Given the description of an element on the screen output the (x, y) to click on. 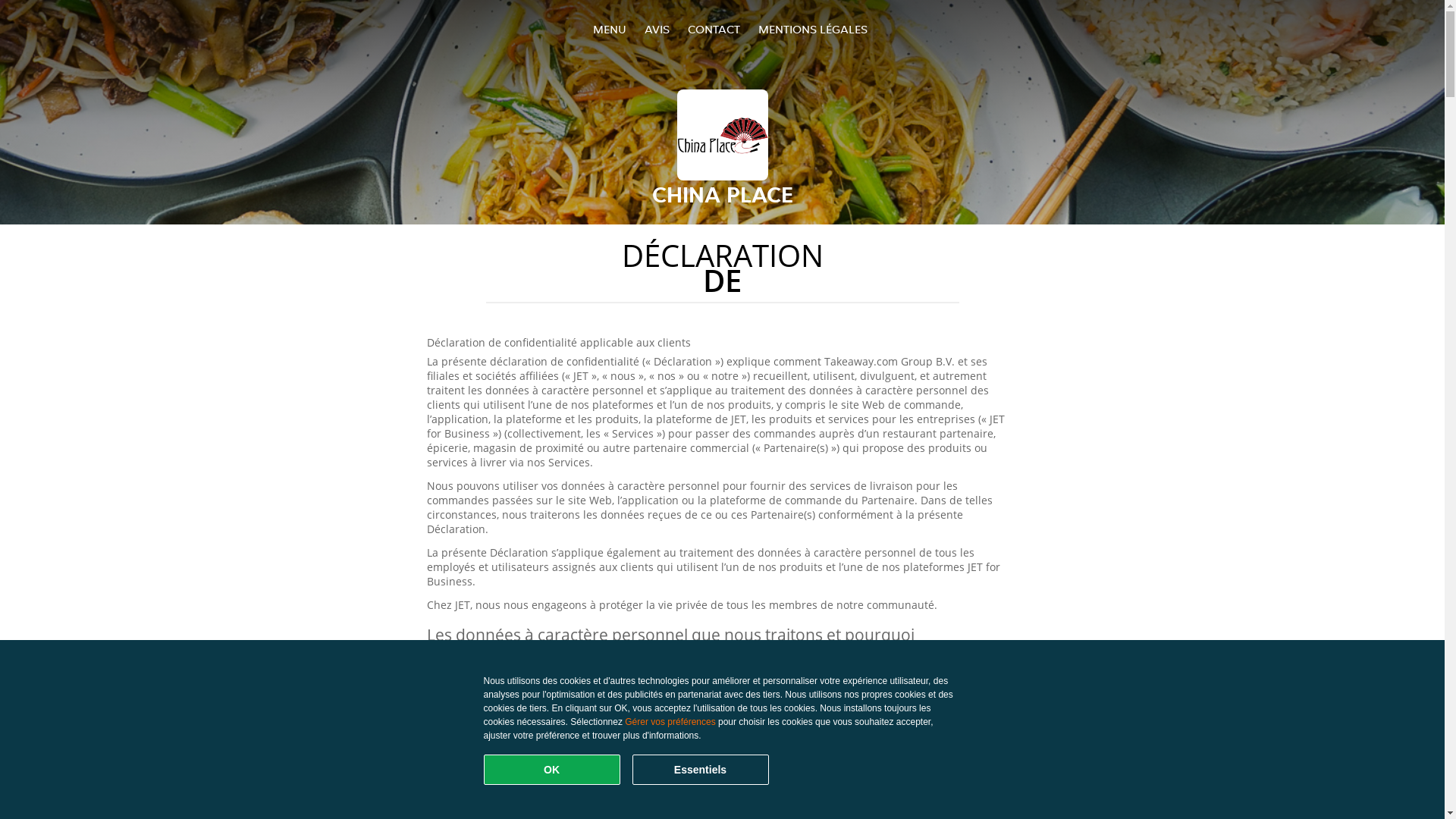
Essentiels Element type: text (700, 769)
AVIS Element type: text (656, 29)
MENU Element type: text (609, 29)
CONTACT Element type: text (713, 29)
OK Element type: text (551, 769)
